Given the description of an element on the screen output the (x, y) to click on. 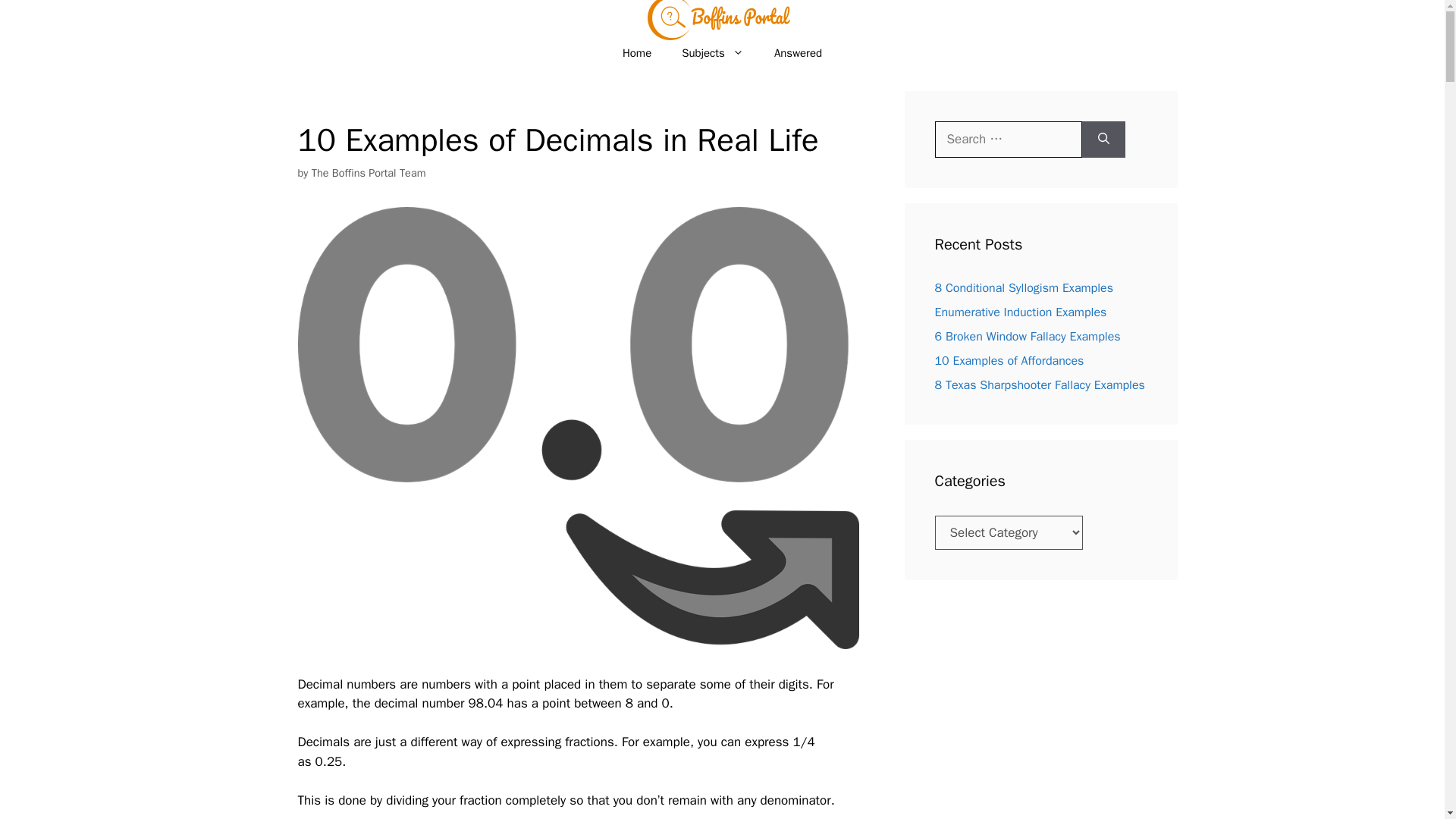
The Boffins Portal (721, 13)
The Boffins Portal Team (368, 172)
10 Examples of Affordances (1008, 360)
View all posts by The Boffins Portal Team (368, 172)
Home (636, 53)
Subjects (712, 53)
Search for: (1007, 139)
8 Conditional Syllogism Examples (1023, 287)
6 Broken Window Fallacy Examples (1026, 336)
8 Texas Sharpshooter Fallacy Examples (1039, 385)
The Boffins Portal (721, 27)
Enumerative Induction Examples (1020, 312)
Answered (797, 53)
